Given the description of an element on the screen output the (x, y) to click on. 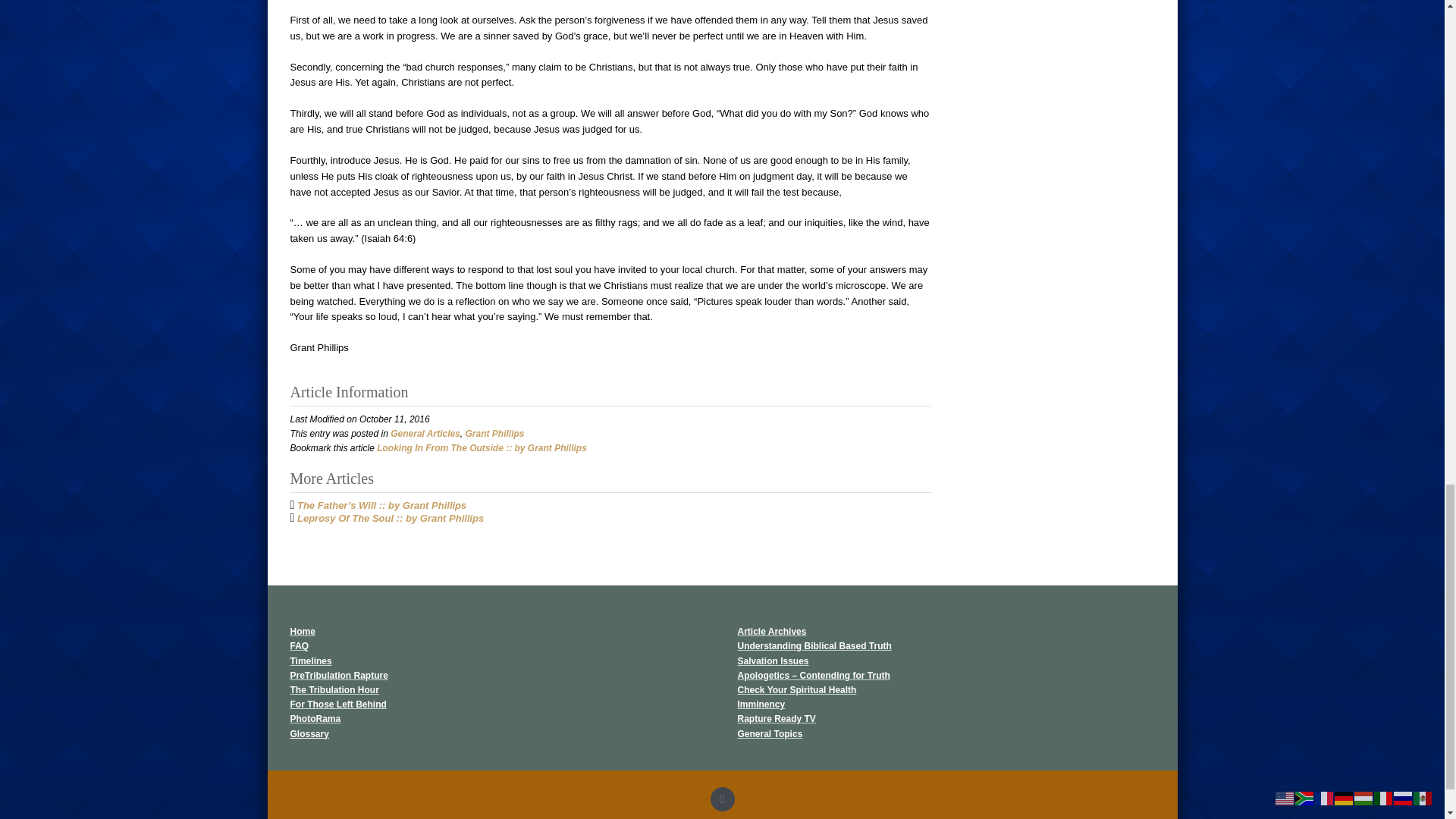
General Topics (769, 733)
Leprosy Of The Soul :: by Grant Phillips (390, 518)
Facebook (721, 799)
Imminency (760, 704)
Salvation Issues (772, 661)
General Articles (425, 433)
Home (301, 631)
Glossary (309, 733)
FAQ (298, 645)
For Those Left Behind (337, 704)
